Given the description of an element on the screen output the (x, y) to click on. 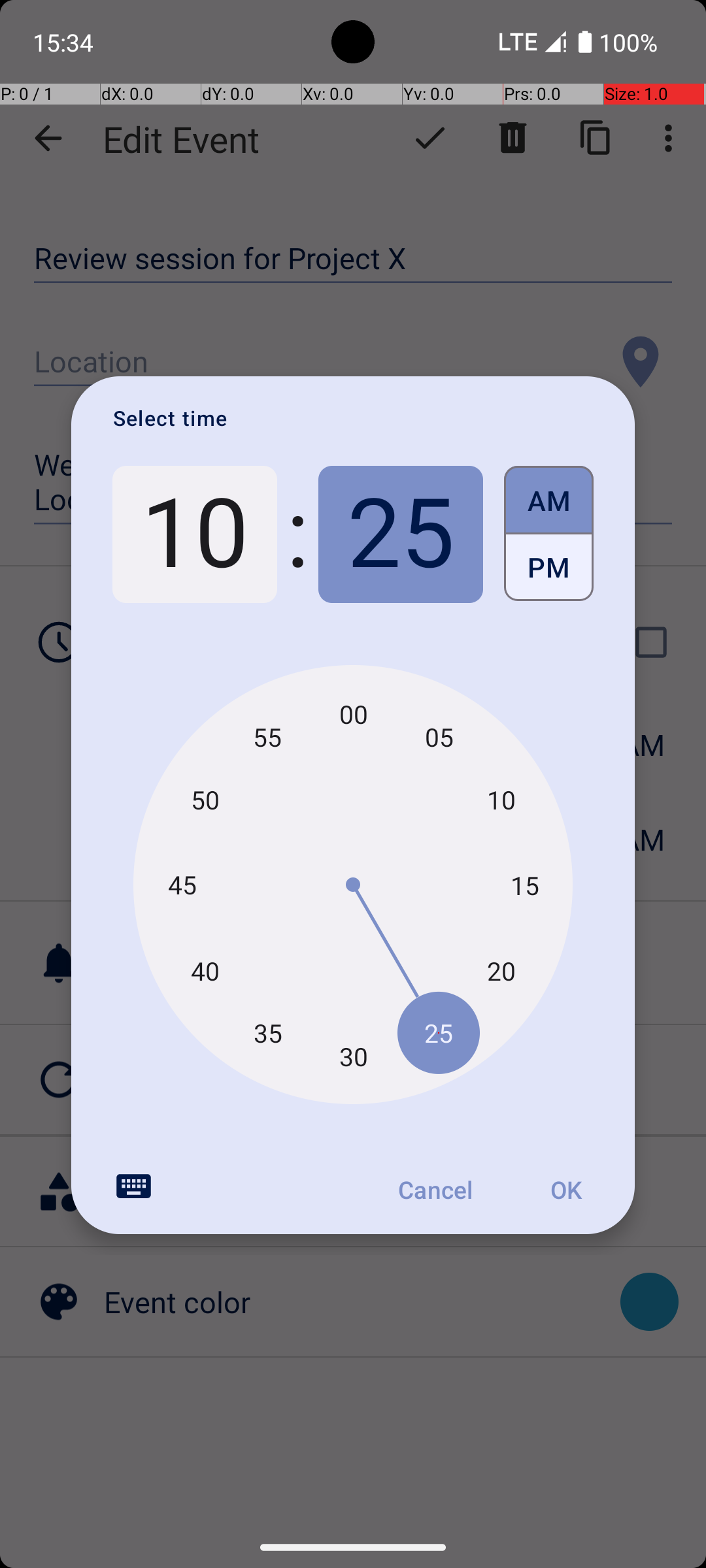
Select AM or PM Element type: android.widget.LinearLayout (548, 534)
